Given the description of an element on the screen output the (x, y) to click on. 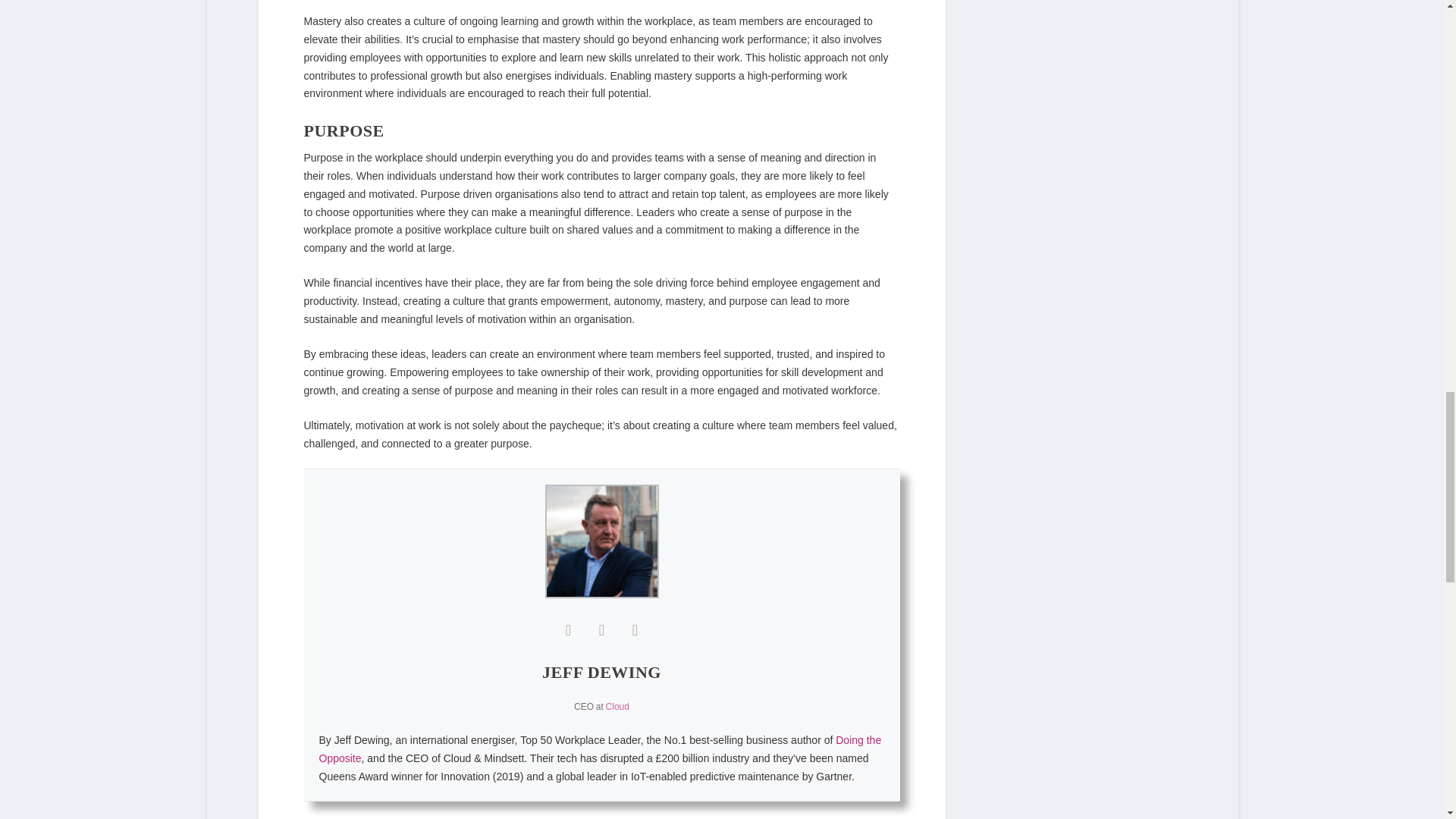
Doing the Opposite (599, 748)
Cloud (616, 706)
